Given the description of an element on the screen output the (x, y) to click on. 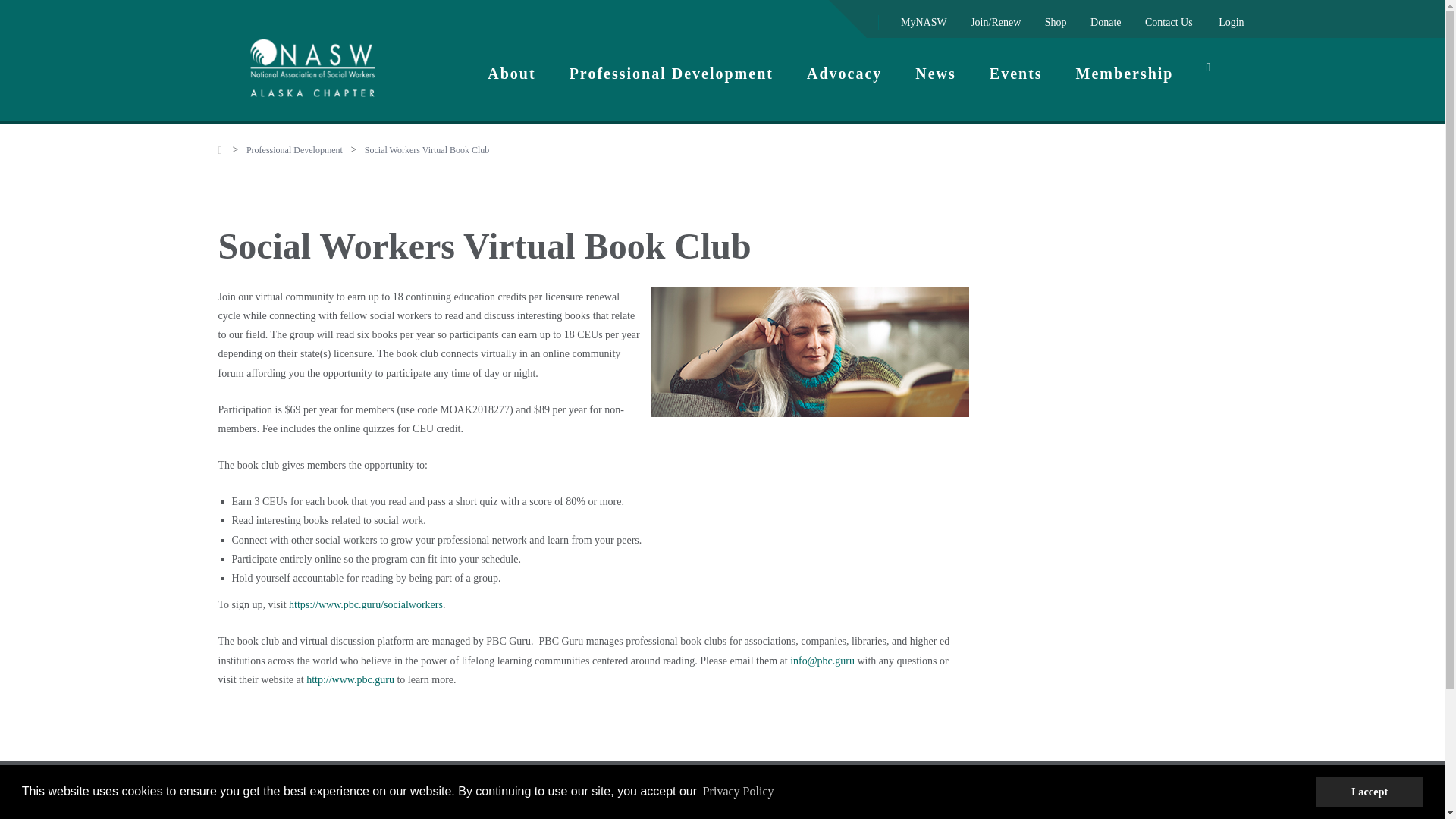
News (935, 72)
Shop (1055, 21)
Professional Development (671, 72)
Login (1230, 21)
Privacy Policy (738, 791)
Login (1230, 21)
About (510, 72)
MyNASW (923, 21)
Donate (1105, 21)
I accept (1369, 791)
About (510, 72)
Professional Development (671, 72)
News (935, 72)
Membership (1125, 72)
Advocacy (844, 72)
